Given the description of an element on the screen output the (x, y) to click on. 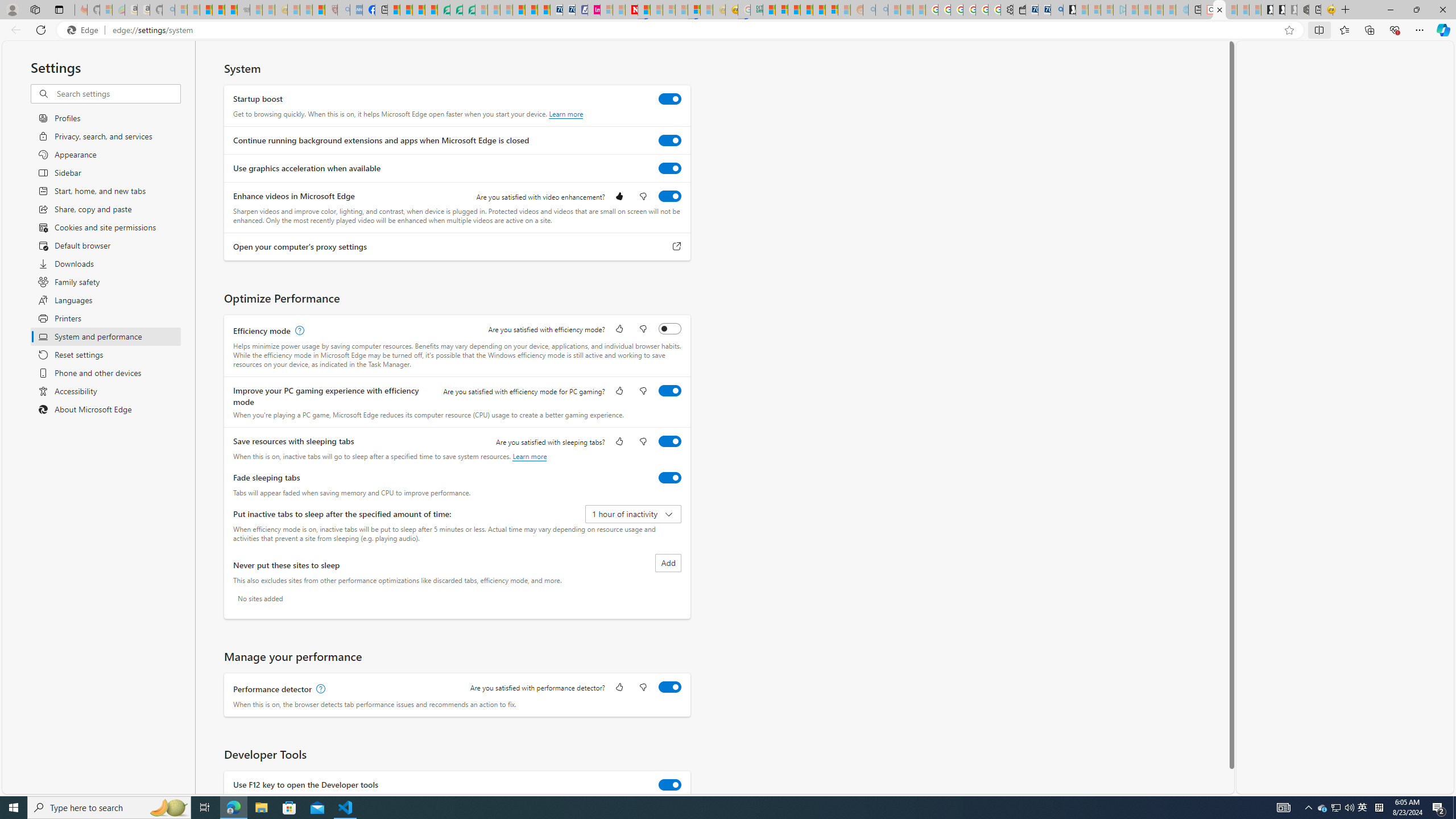
Home | Sky Blue Bikes - Sky Blue Bikes - Sleeping (1181, 9)
Browser essentials (1394, 29)
Latest Politics News & Archive | Newsweek.com (631, 9)
14 Common Myths Debunked By Scientific Facts - Sleeping (656, 9)
Tab actions menu (58, 9)
Settings and more (Alt+F) (1419, 29)
Fade sleeping tabs (669, 477)
Minimize (1390, 9)
Microsoft-Report a Concern to Bing - Sleeping (105, 9)
